Given the description of an element on the screen output the (x, y) to click on. 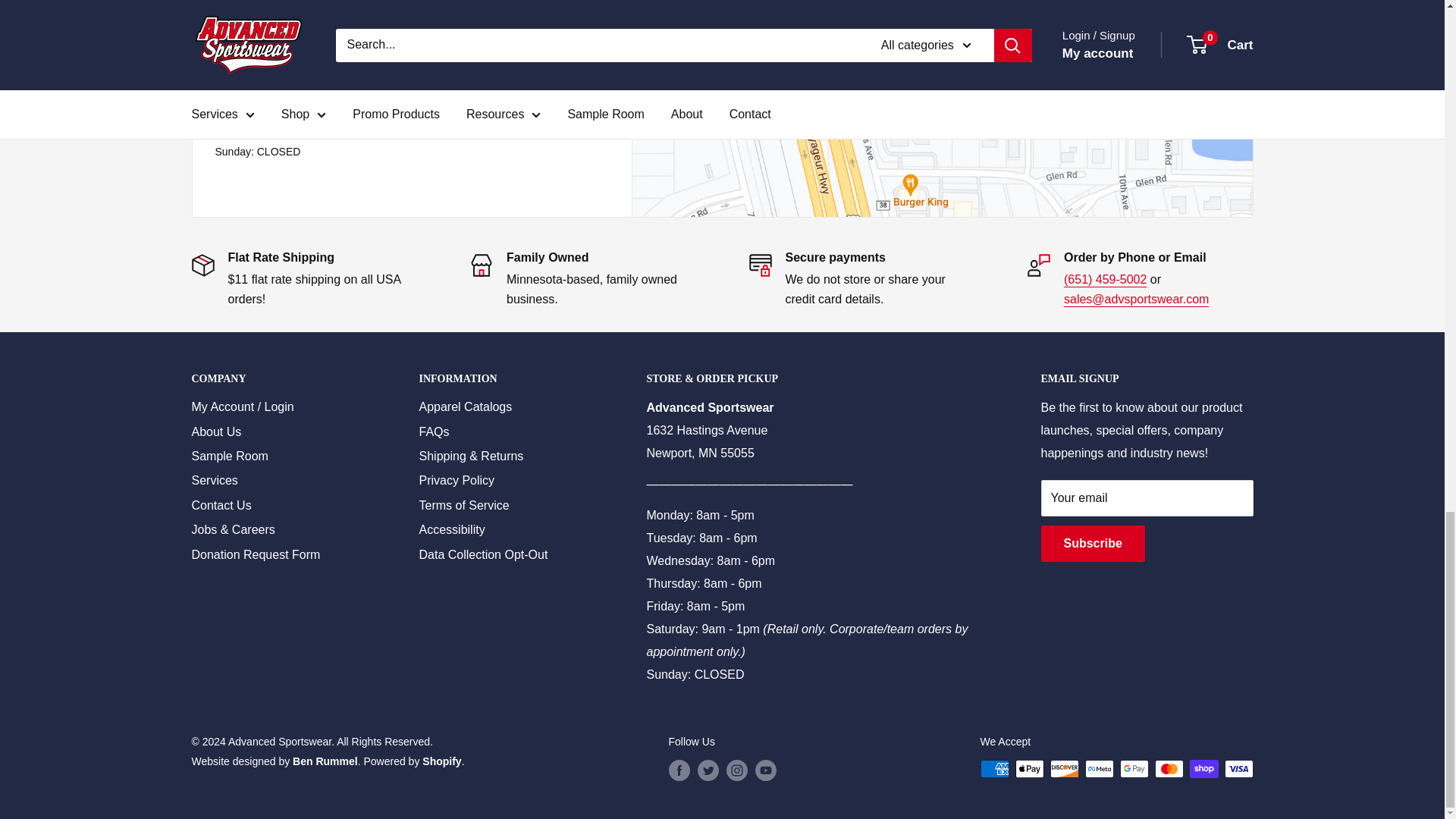
Ben Rummel Shopify Expert and Branding (325, 761)
Start your shop on Shopify! (441, 761)
Order by Phone (1105, 278)
